Given the description of an element on the screen output the (x, y) to click on. 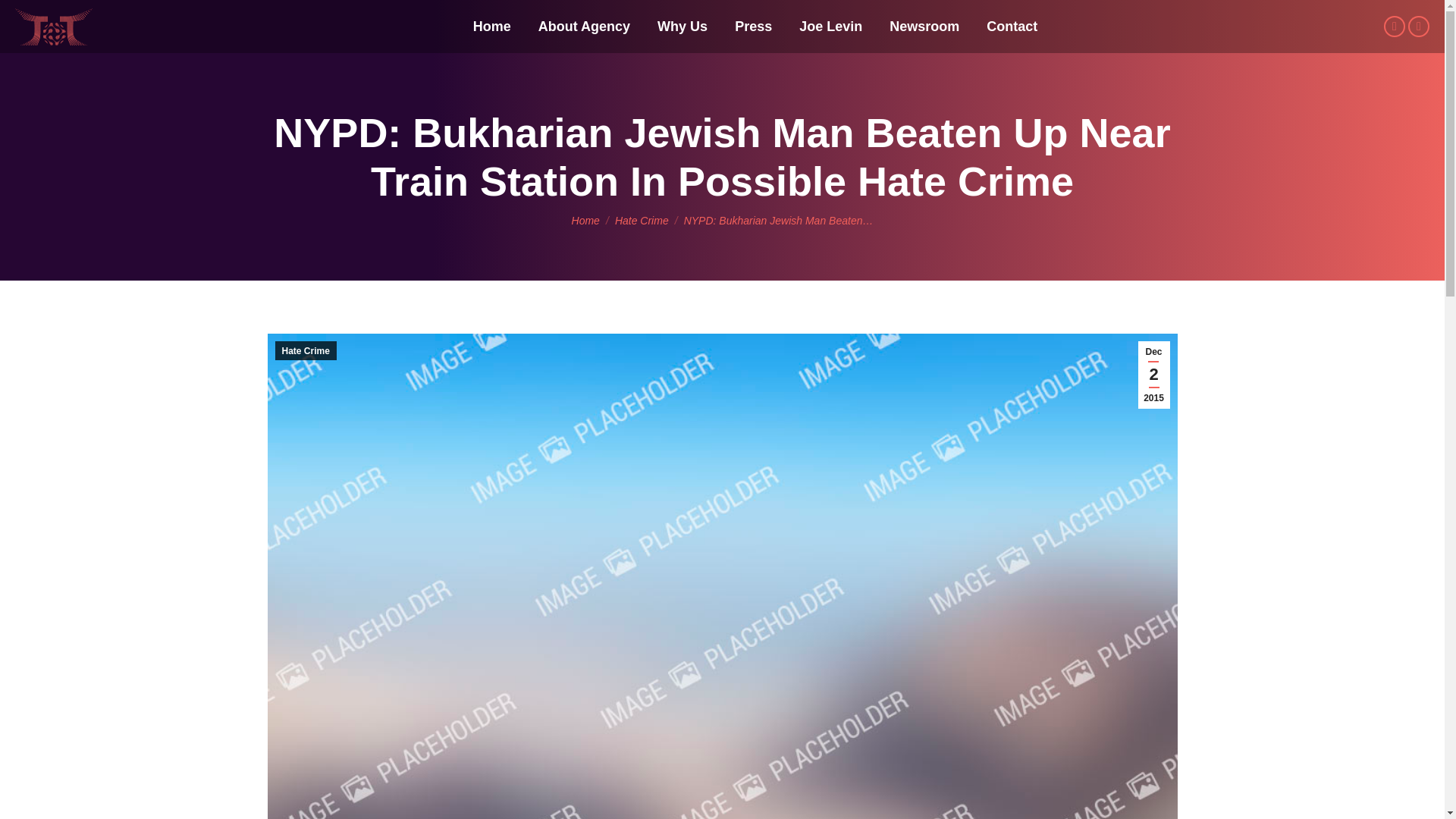
Joe Levin (830, 26)
Why Us (681, 26)
Newsroom (924, 26)
Home (585, 219)
Contact (1012, 26)
Linkedin page opens in new window (1418, 25)
Home (491, 26)
Twitter page opens in new window (1394, 25)
Hate Crime (641, 219)
About Agency (584, 26)
Twitter page opens in new window (1394, 25)
Press (753, 26)
Hate Crime (305, 350)
Linkedin page opens in new window (1418, 25)
Home (585, 219)
